Given the description of an element on the screen output the (x, y) to click on. 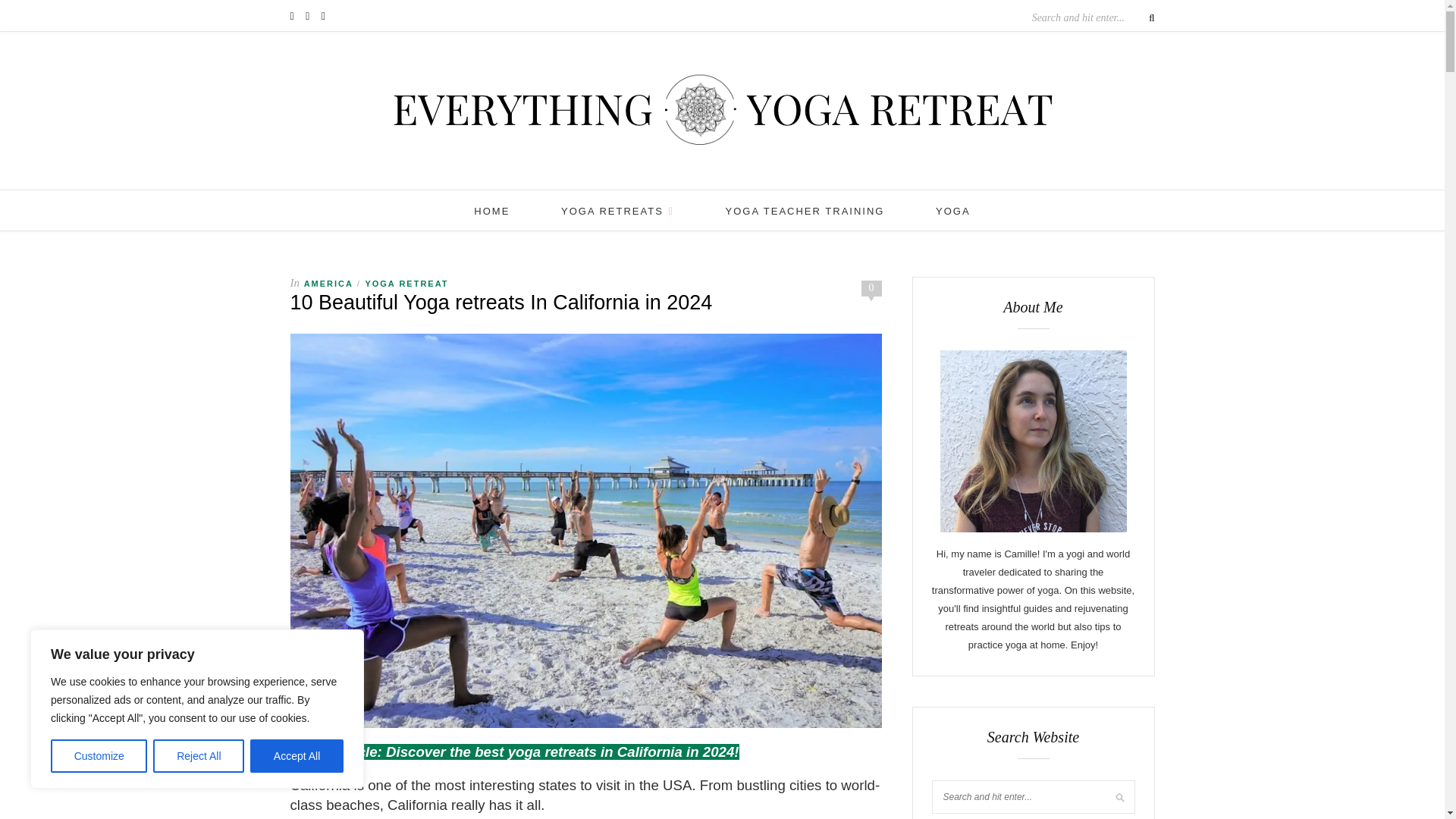
YOGA RETREATS (617, 210)
Customize (98, 756)
YOGA TEACHER TRAINING (805, 210)
Reject All (198, 756)
Accept All (296, 756)
